Given the description of an element on the screen output the (x, y) to click on. 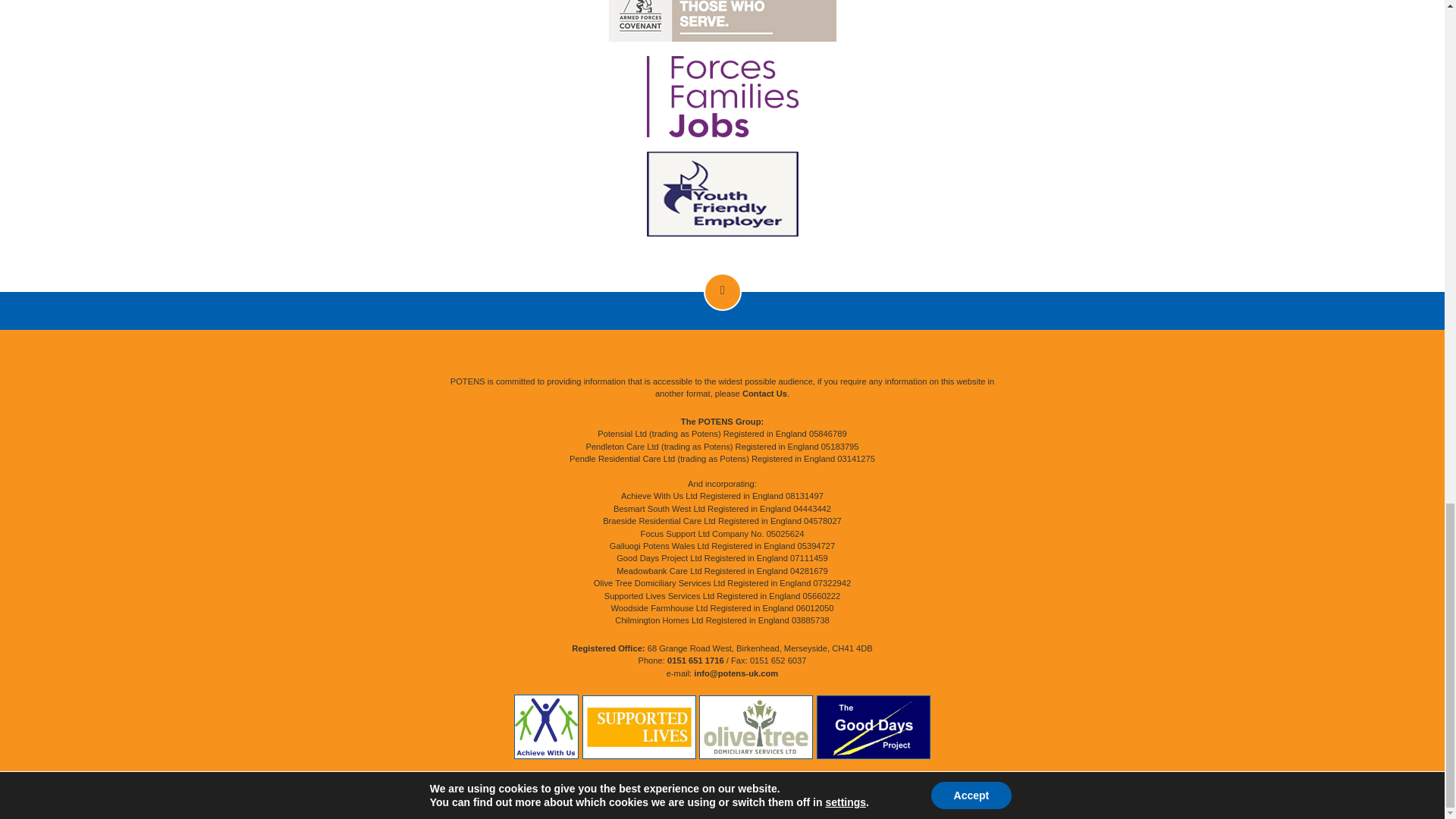
Contact Us (764, 393)
List of cookies (735, 780)
Cookie Policy (677, 780)
Privacy Policy (619, 780)
